Given the description of an element on the screen output the (x, y) to click on. 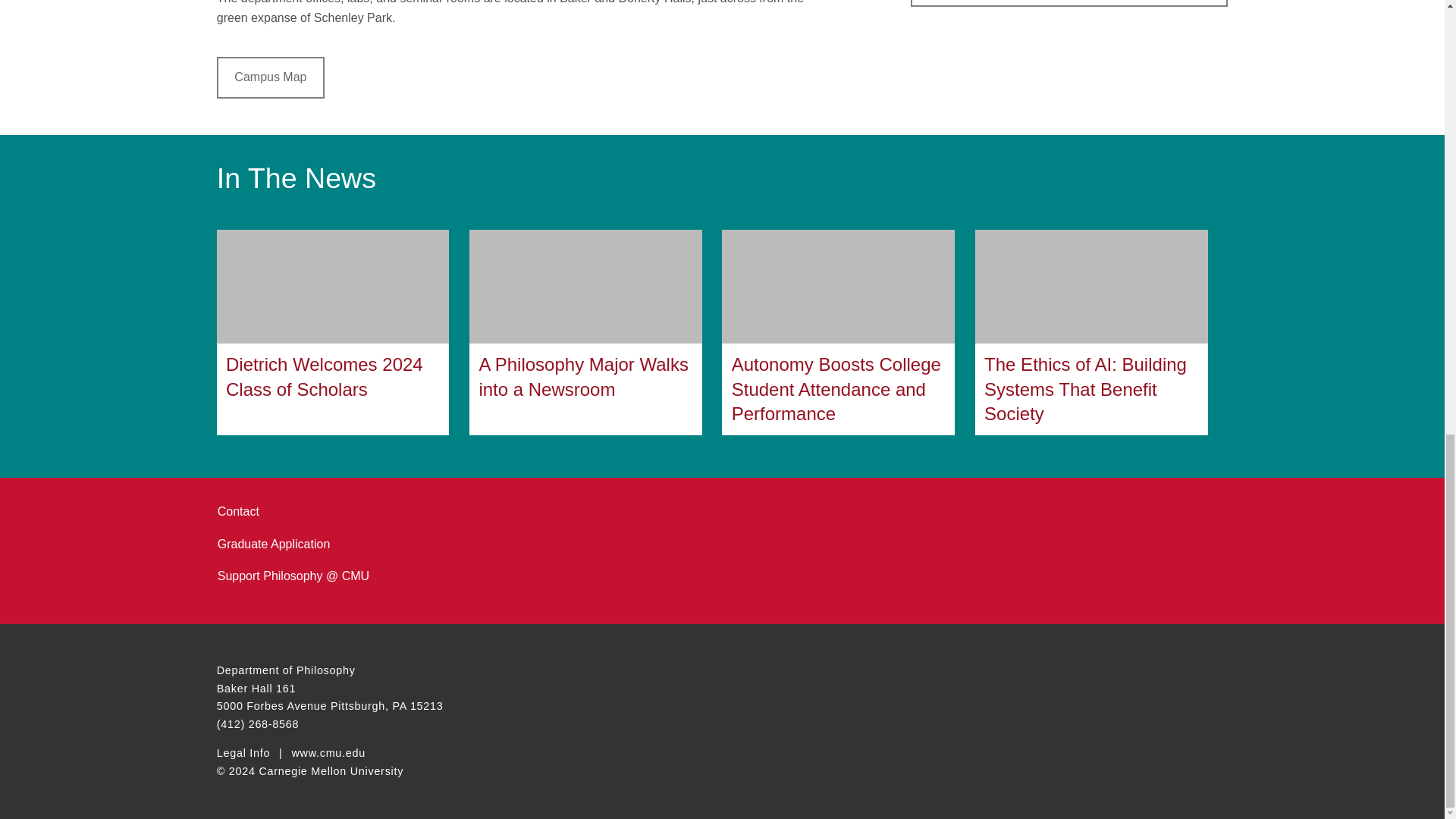
CMU on Facebook (564, 672)
Graduate Application (273, 544)
Dietrich Welcomes 2024 Class of Scholars (332, 332)
Contact (237, 511)
A Philosophy Major Walks into a Newsroom (584, 332)
Schedule of Classes (1069, 3)
Campus Map (270, 76)
Autonomy Boosts College Student Attendance and Performance (838, 332)
The Ethics of AI: Building Systems That Benefit Society (1091, 332)
CMU on Twitter (592, 672)
